Given the description of an element on the screen output the (x, y) to click on. 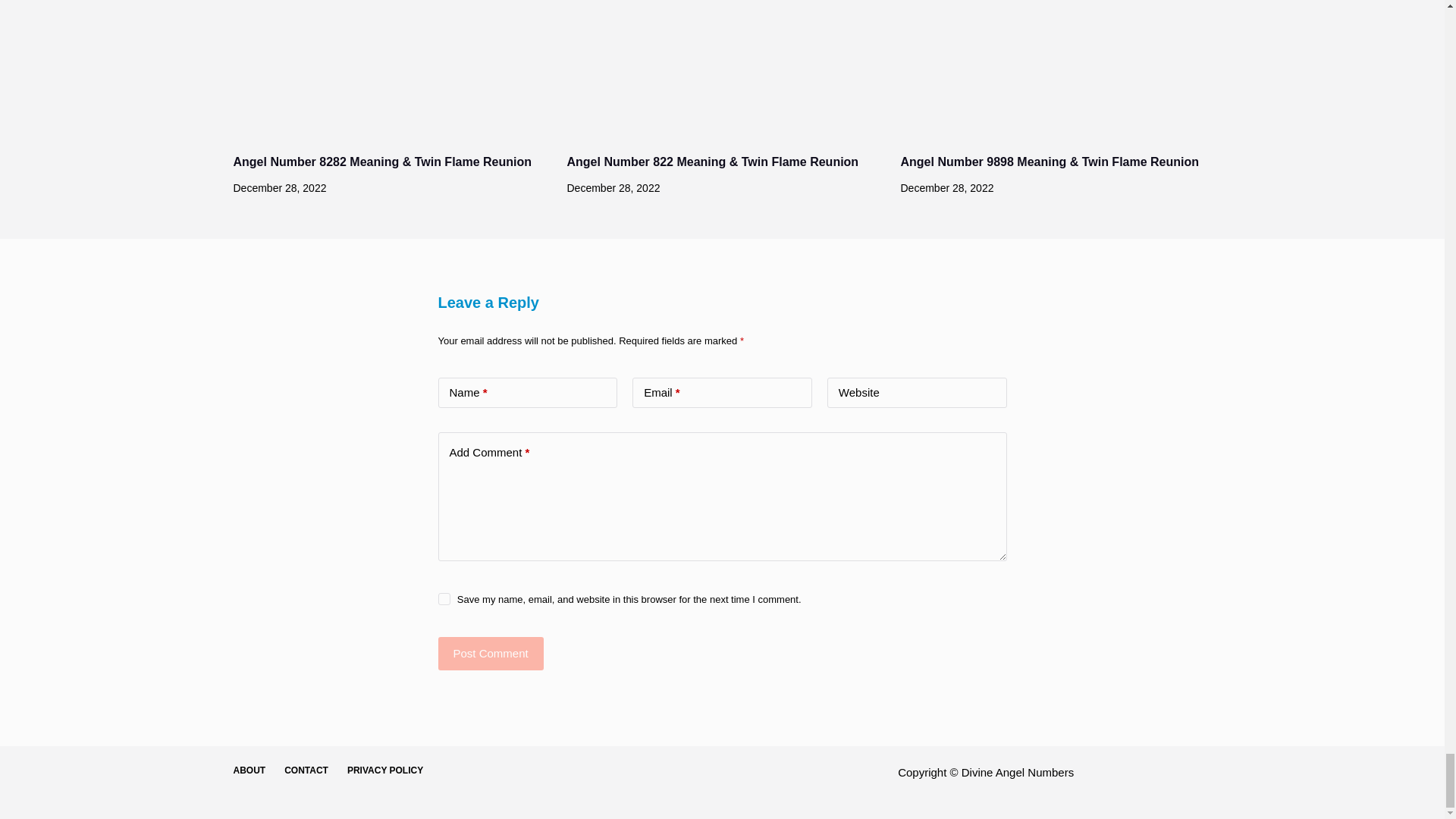
yes (443, 598)
